Given the description of an element on the screen output the (x, y) to click on. 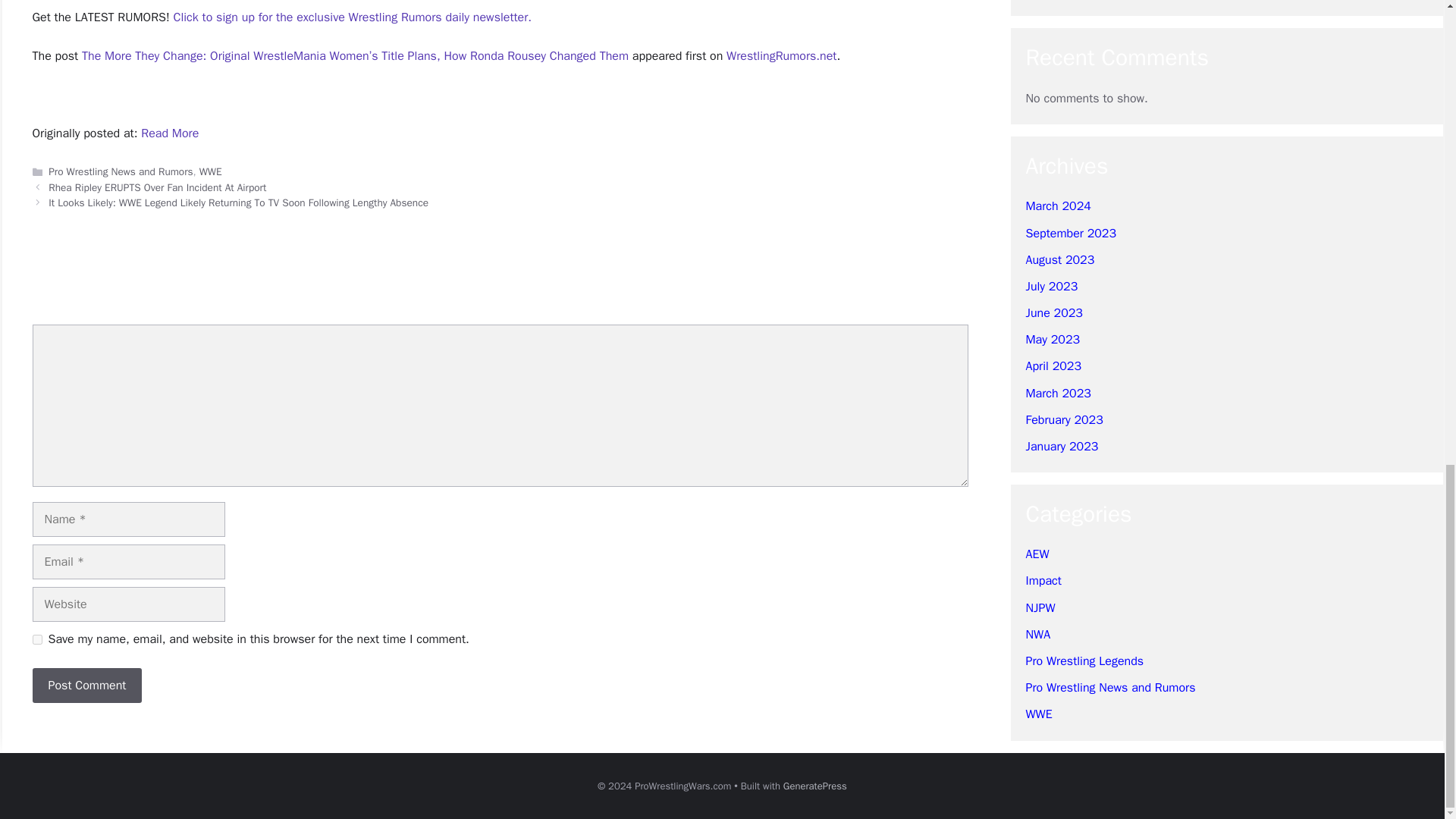
Post Comment (86, 685)
Post Comment (86, 685)
yes (37, 639)
Scroll back to top (1406, 456)
Rhea Ripley ERUPTS Over Fan Incident At Airport (157, 187)
WrestlingRumors.net (780, 55)
Pro Wrestling News and Rumors (120, 171)
Read More (169, 133)
WWE (210, 171)
